Given the description of an element on the screen output the (x, y) to click on. 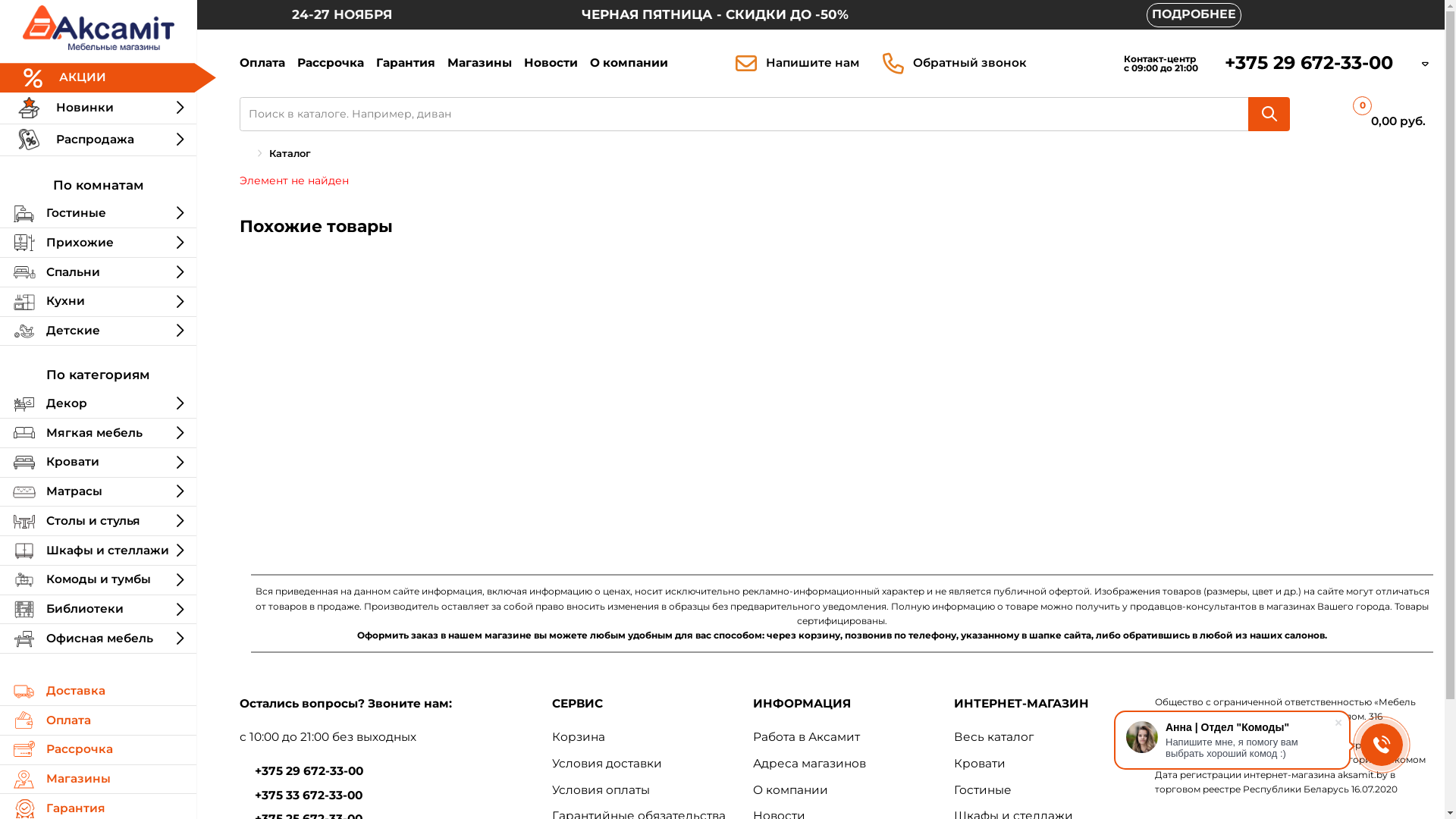
+375 33 672-33-00 Element type: text (308, 794)
+375 29 672-33-00 Element type: text (308, 770)
